Given the description of an element on the screen output the (x, y) to click on. 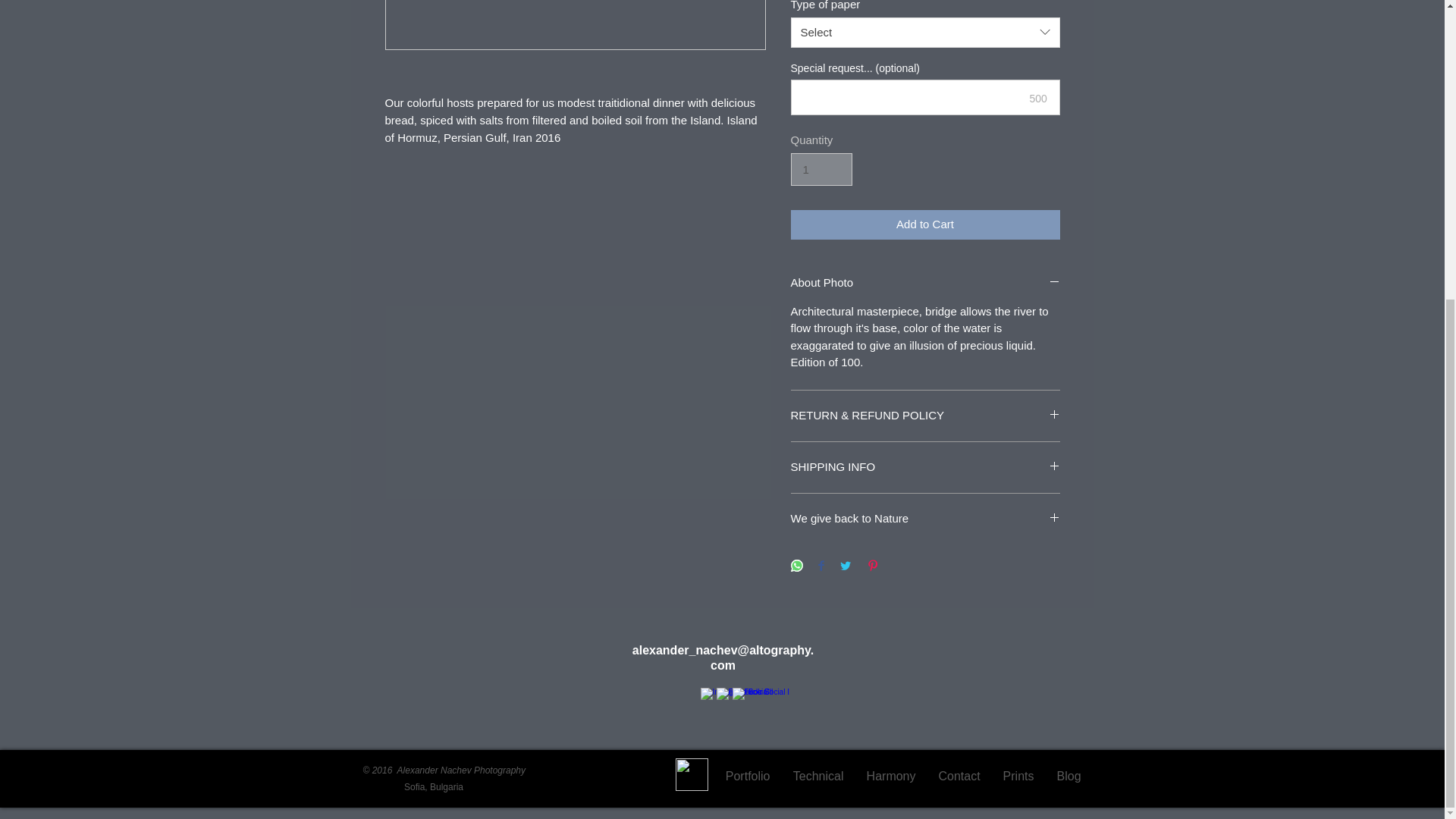
We give back to Nature (924, 518)
About Photo (924, 283)
Add to Cart (924, 224)
SHIPPING INFO (924, 467)
Portfolio (747, 774)
1 (820, 169)
Select (924, 32)
